Given the description of an element on the screen output the (x, y) to click on. 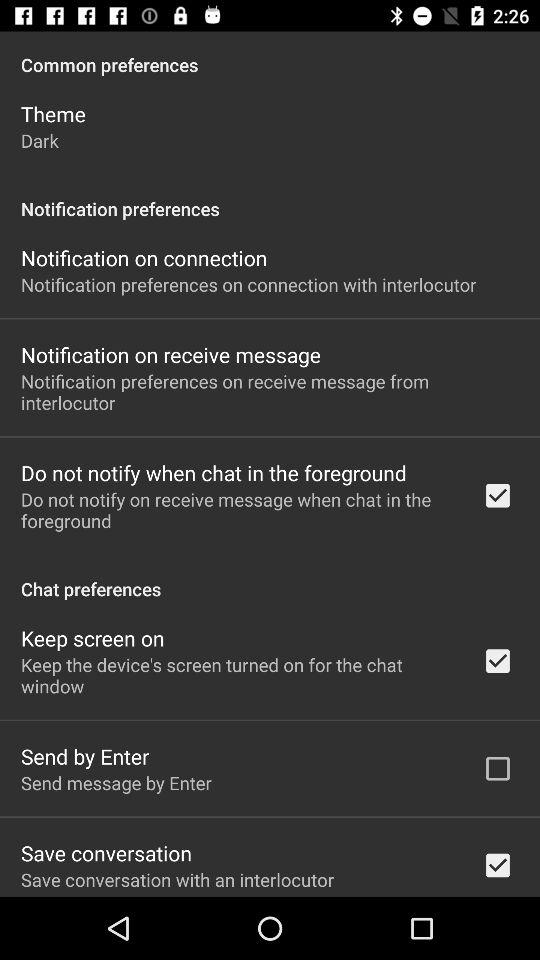
flip until the keep the device icon (238, 675)
